Given the description of an element on the screen output the (x, y) to click on. 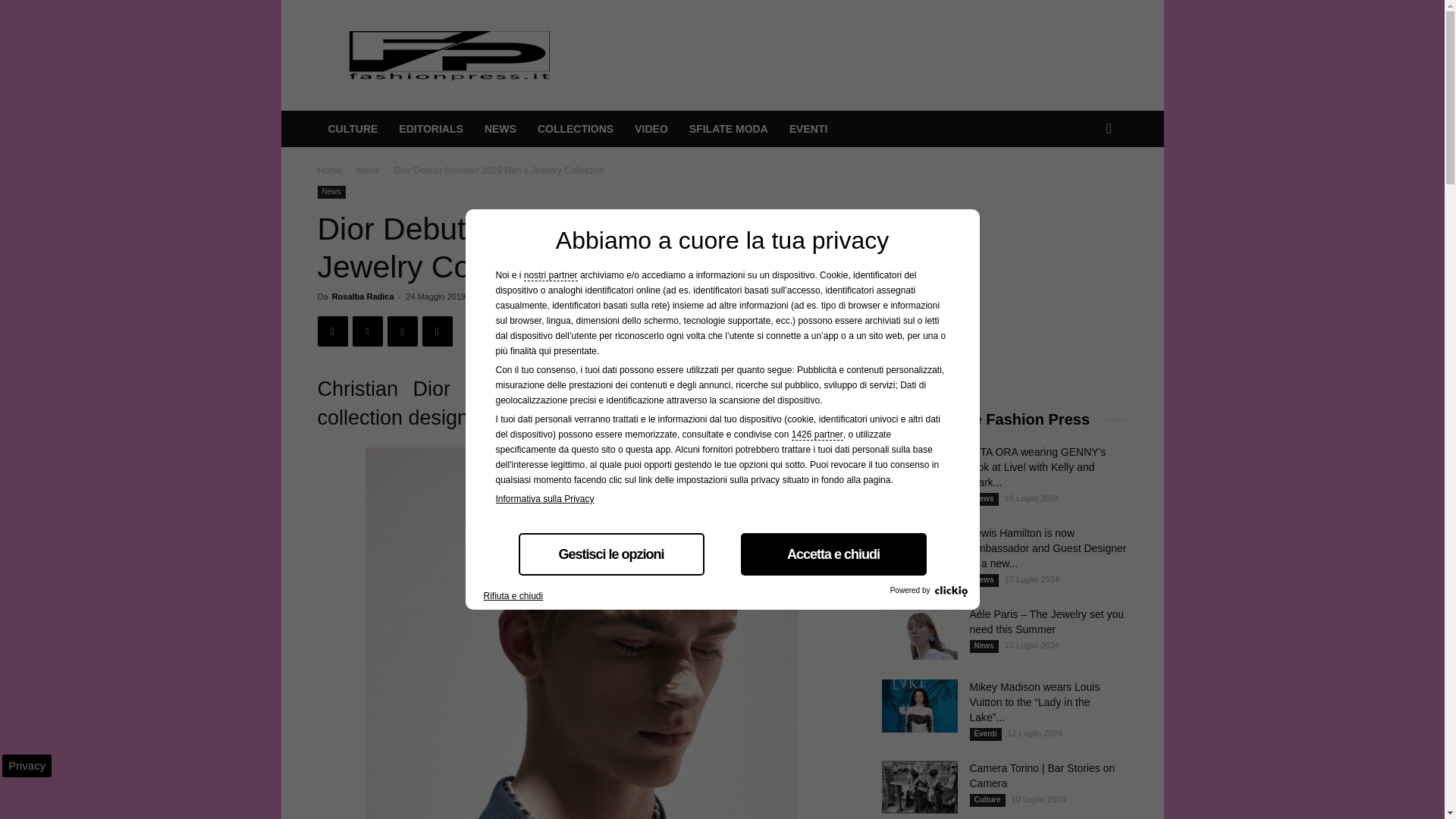
Cerca (1086, 189)
CULTURE (352, 128)
Advertisement (994, 280)
SFILATE MODA (728, 128)
EDITORIALS (431, 128)
Advertisement (850, 55)
News (331, 192)
COLLECTIONS (575, 128)
News (367, 170)
EVENTI (808, 128)
Rosalba Radica (362, 296)
VIDEO (651, 128)
Home (328, 170)
Visualizza tutti i post in News (367, 170)
NEWS (500, 128)
